Given the description of an element on the screen output the (x, y) to click on. 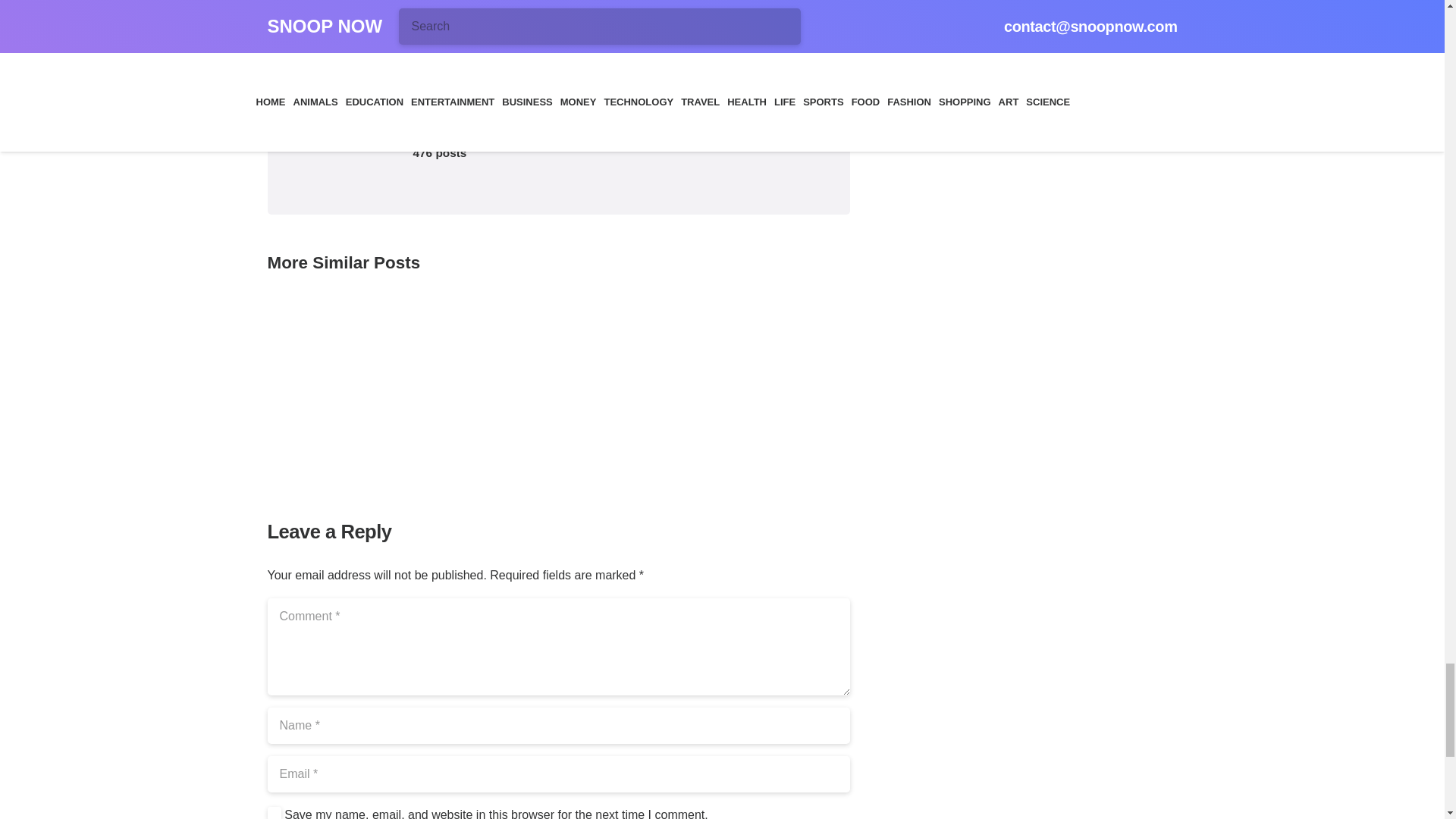
rise of streaming platforms (536, 21)
1 (273, 812)
netflix and disney (338, 21)
rise of streaming (425, 21)
